Given the description of an element on the screen output the (x, y) to click on. 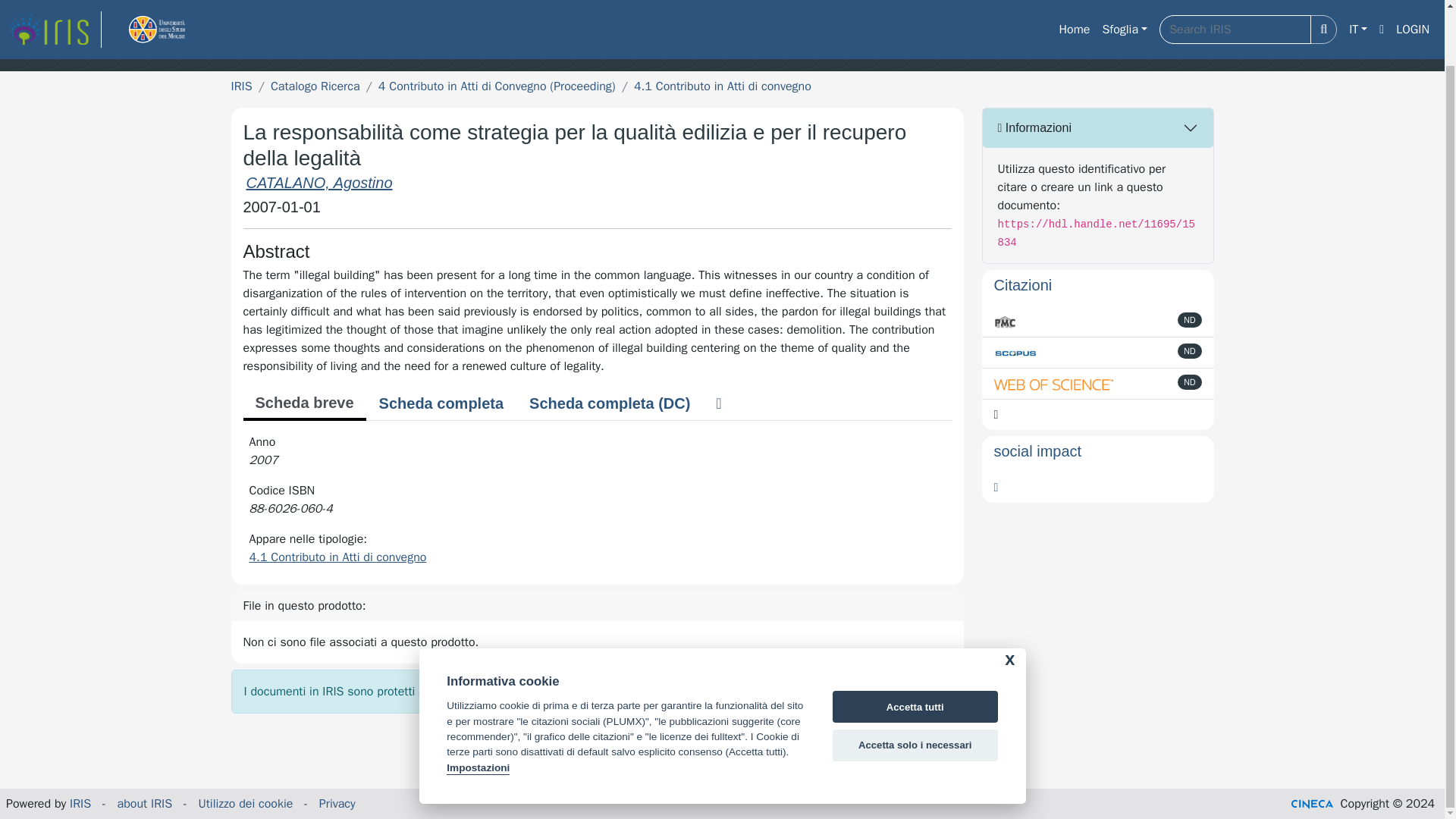
Scheda completa (441, 403)
Scheda breve (304, 403)
 Informazioni (1097, 128)
Catalogo Ricerca (314, 86)
4.1 Contributo in Atti di convegno (721, 86)
CATALANO, Agostino (318, 182)
IRIS (240, 86)
about IRIS (145, 803)
4.1 Contributo in Atti di convegno (337, 557)
IRIS (79, 803)
